Given the description of an element on the screen output the (x, y) to click on. 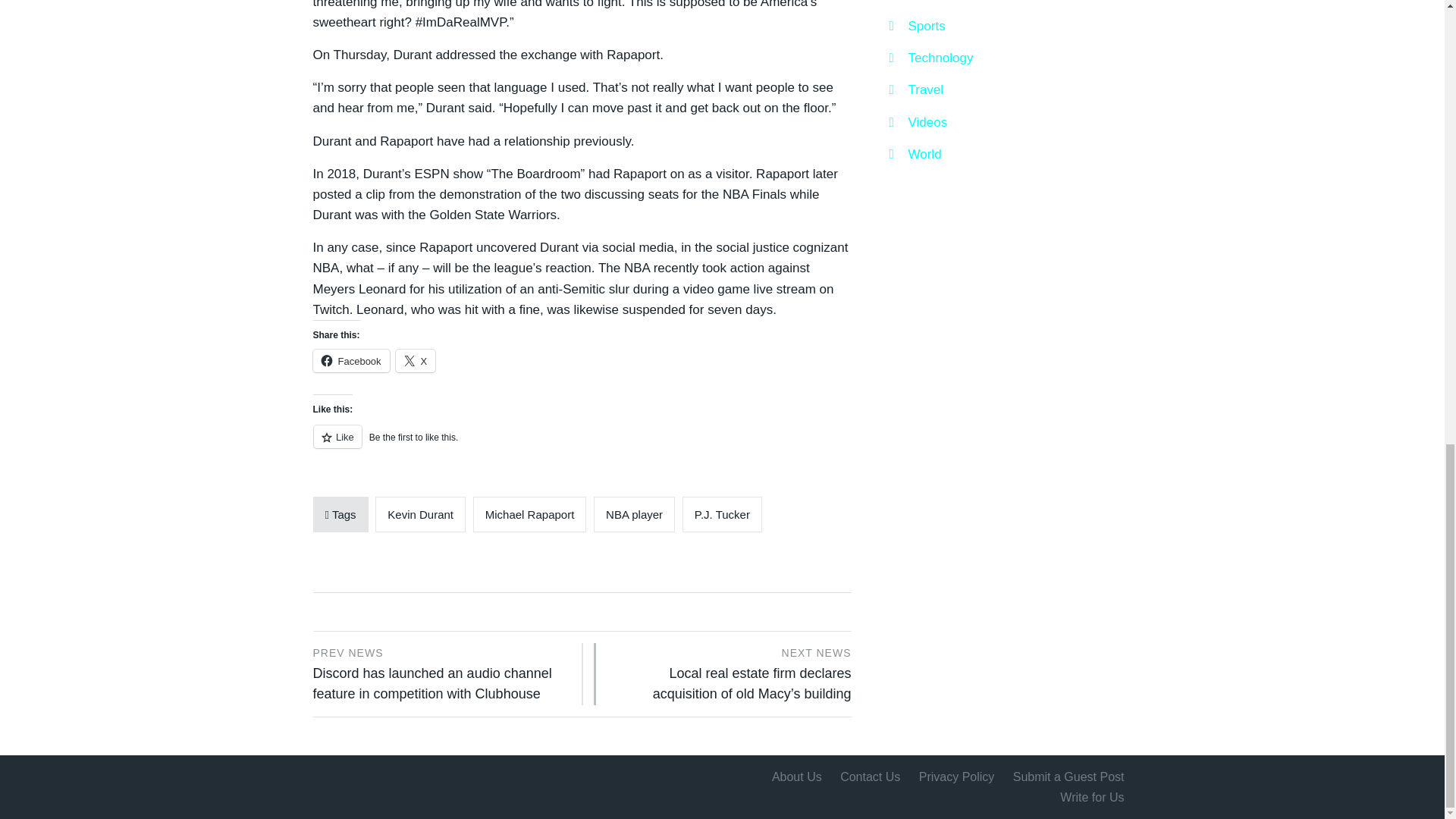
P.J. Tucker (721, 514)
Click to share on Facebook (350, 360)
NBA player (634, 514)
Kevin Durant (420, 514)
Facebook (350, 360)
Click to share on X (415, 360)
X (415, 360)
Michael Rapaport (529, 514)
Like or Reblog (581, 445)
